Given the description of an element on the screen output the (x, y) to click on. 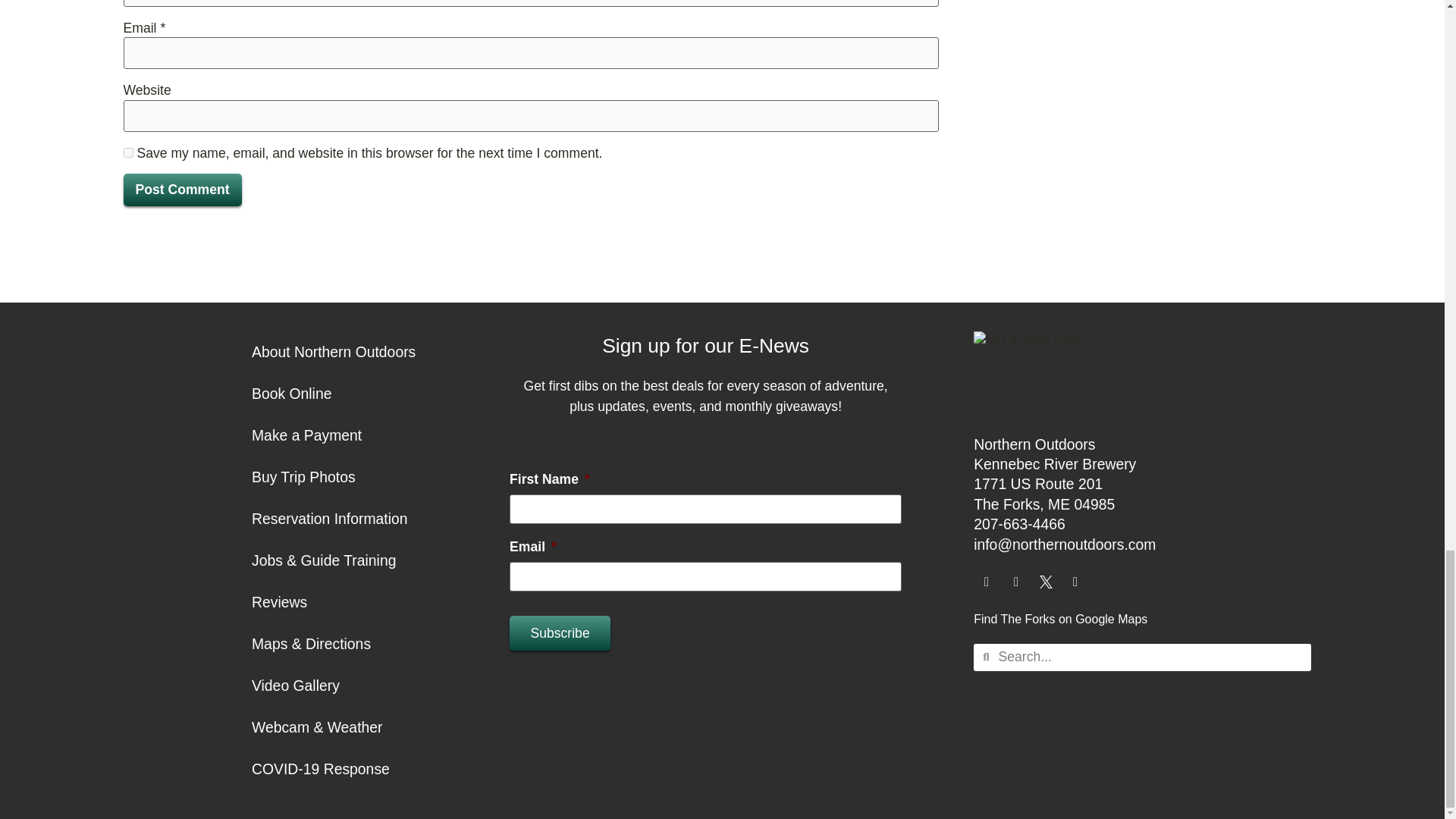
Subscribe (559, 632)
yes (127, 153)
Post Comment (181, 189)
